Given the description of an element on the screen output the (x, y) to click on. 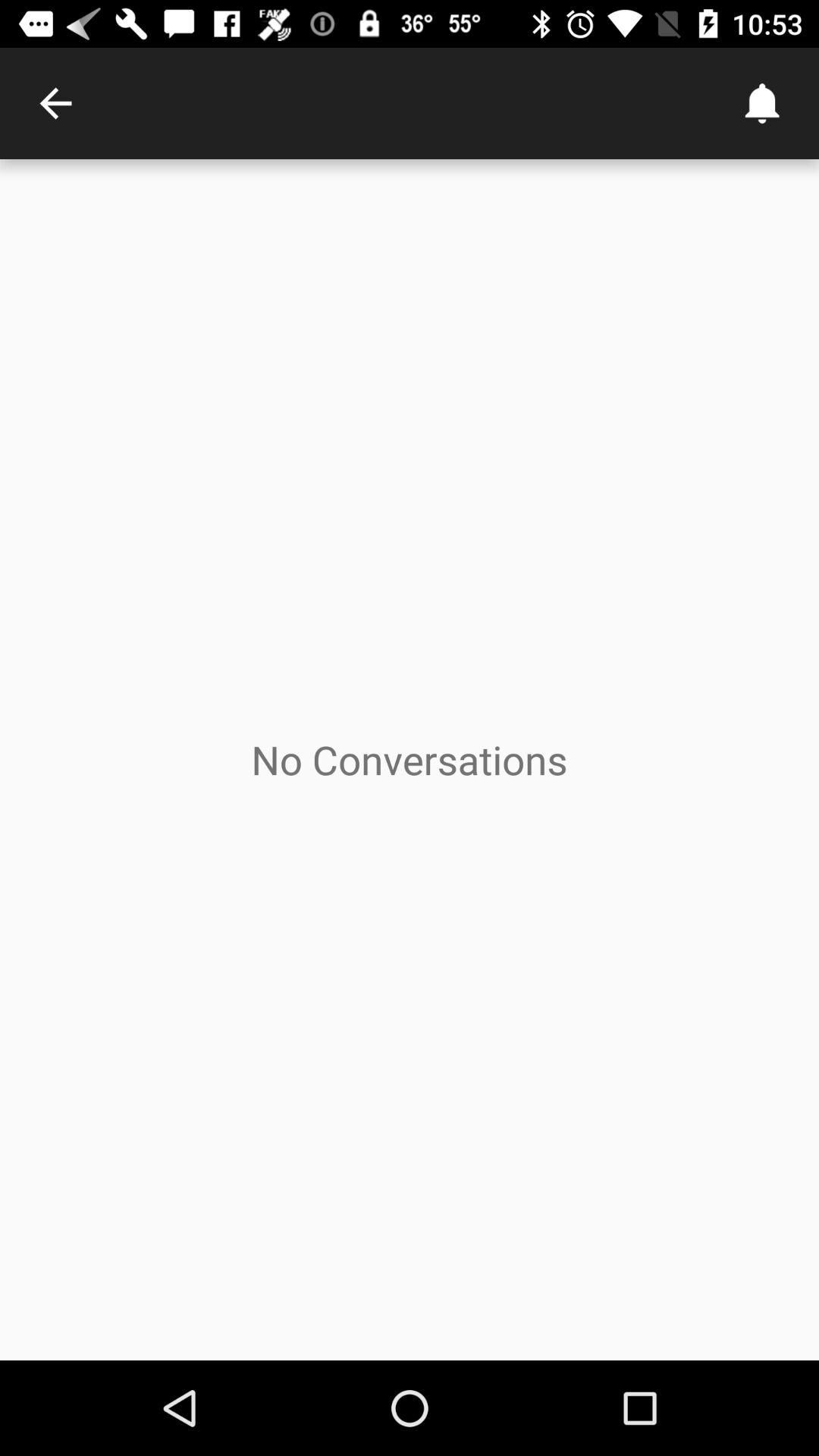
launch icon above the no conversations icon (763, 103)
